Given the description of an element on the screen output the (x, y) to click on. 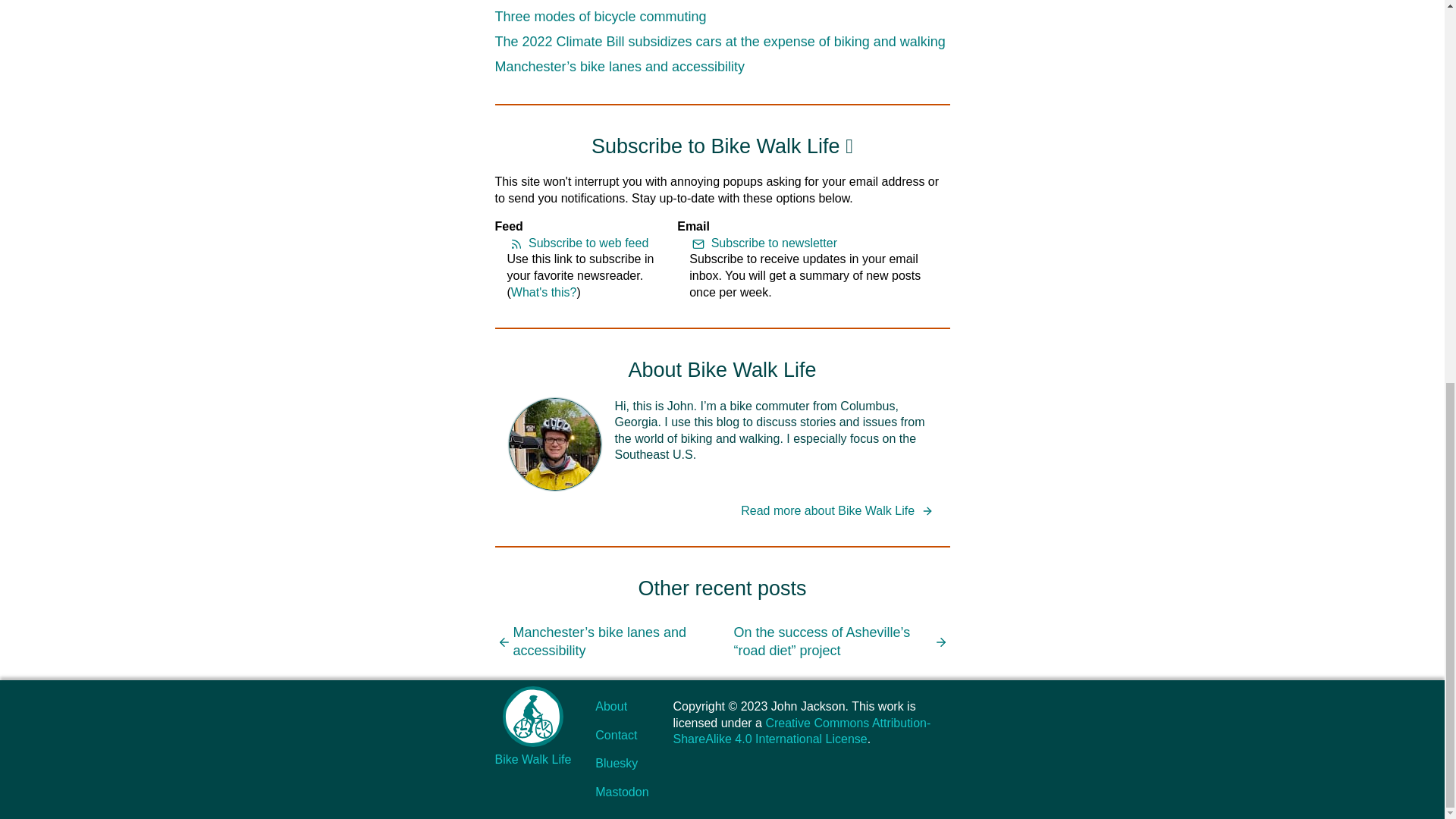
Read more about Bike Walk Life (838, 510)
Contact (616, 735)
Bike Walk Life (532, 726)
About (611, 706)
Three modes of bicycle commuting (600, 16)
What's this? (543, 291)
Subscribe to newsletter (762, 242)
Subscribe to web feed (576, 242)
